Given the description of an element on the screen output the (x, y) to click on. 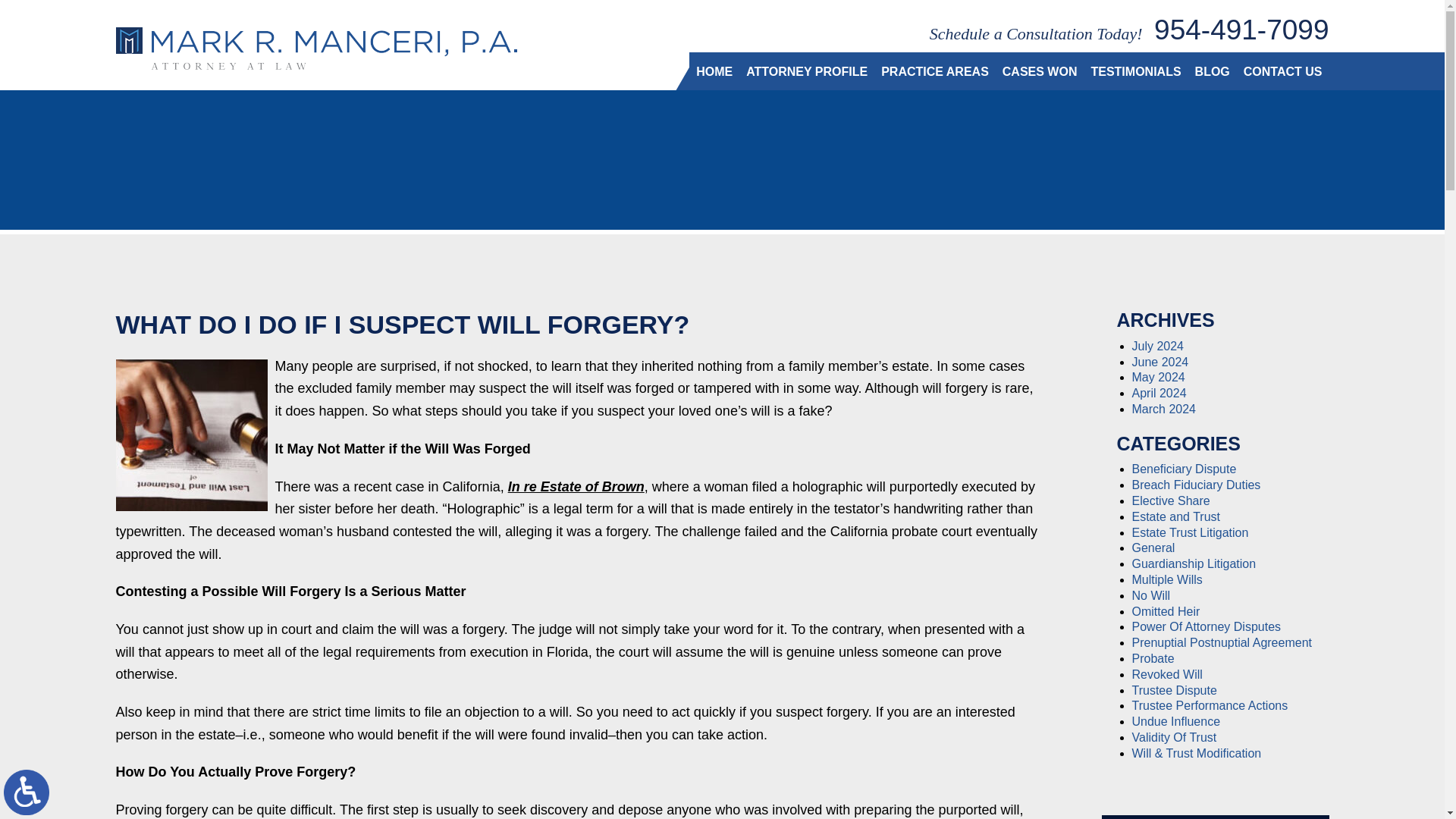
July 2024 (1157, 345)
Will7 (190, 435)
TESTIMONIALS (1135, 71)
ATTORNEY PROFILE (807, 71)
June 2024 (1159, 361)
BLOG (1212, 71)
CONTACT US (1282, 71)
PRACTICE AREAS (935, 71)
Switch to ADA Accessible Theme (26, 791)
HOME (713, 71)
CASES WON (1039, 71)
954-491-7099 (1240, 29)
